Given the description of an element on the screen output the (x, y) to click on. 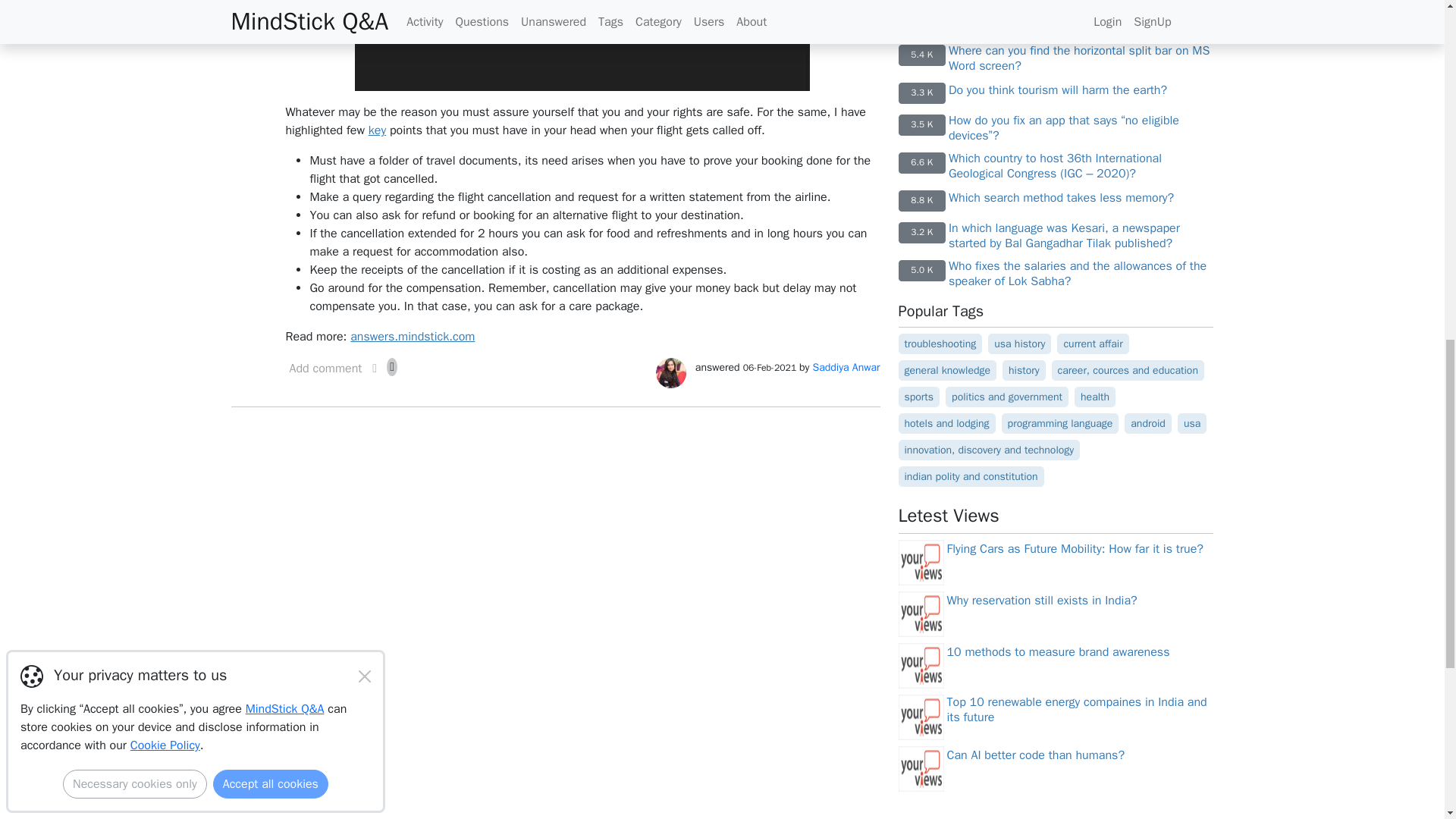
Saddiya Anwar (846, 367)
Add a comment on this answer (325, 372)
key (376, 130)
Report Abuse (374, 372)
Saddiya Anwar (670, 372)
Add comment (325, 372)
answers.mindstick.com (412, 336)
